Given the description of an element on the screen output the (x, y) to click on. 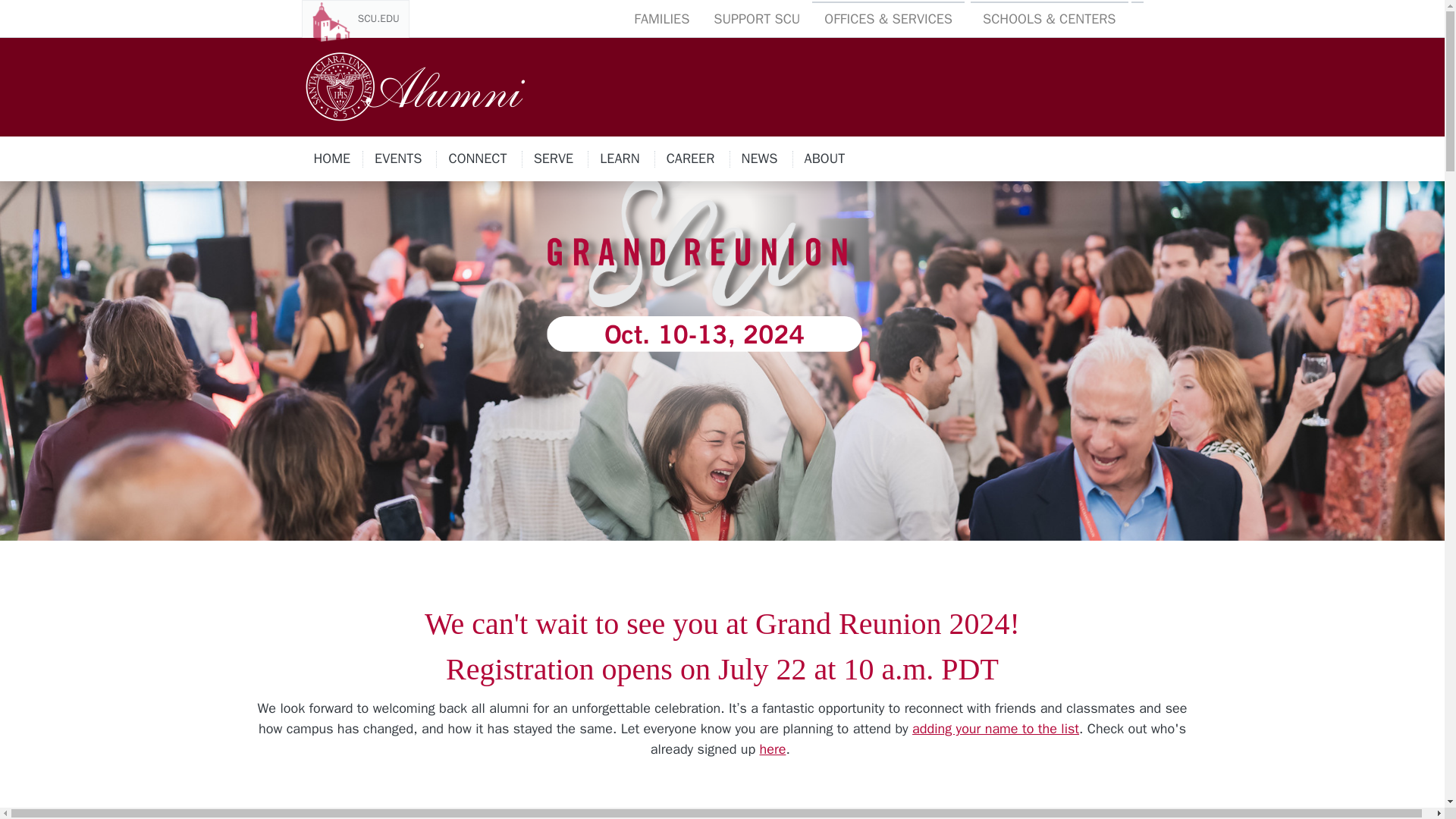
SCU.EDU (355, 18)
FAMILIES (661, 19)
Skip to main content (398, 158)
SUPPORT SCU (331, 158)
Search (478, 158)
